Given the description of an element on the screen output the (x, y) to click on. 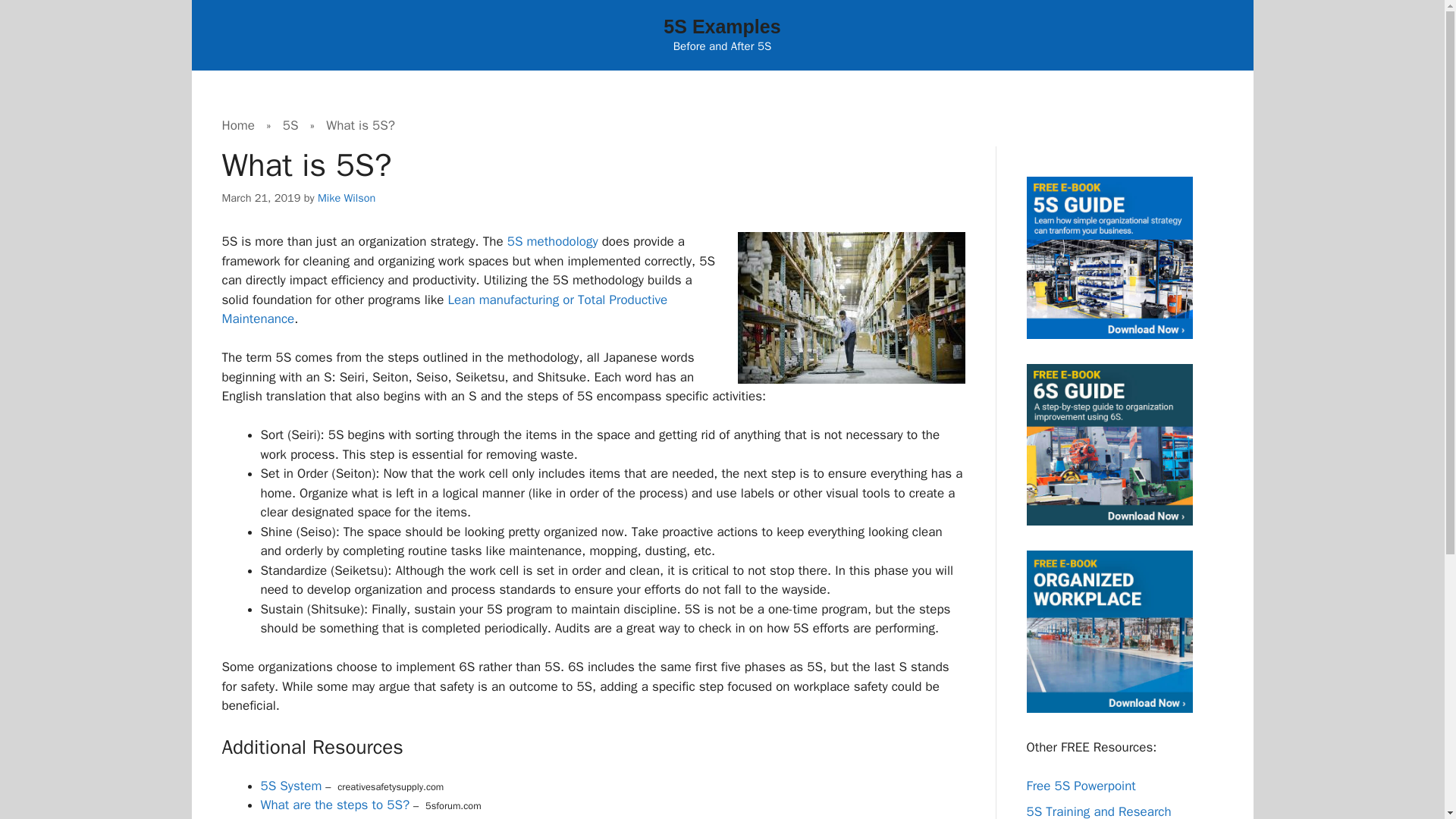
Home (237, 124)
Lean manufacturing or Total Productive Maintenance (443, 309)
What is 5S? (360, 124)
Mike Wilson (346, 197)
What Does 5S Stand For? (333, 817)
Free 5S Powerpoint (1080, 785)
What Does 5S Stand For? (333, 817)
5S System (290, 785)
5S System (290, 785)
What are the steps to 5S? (335, 804)
